Given the description of an element on the screen output the (x, y) to click on. 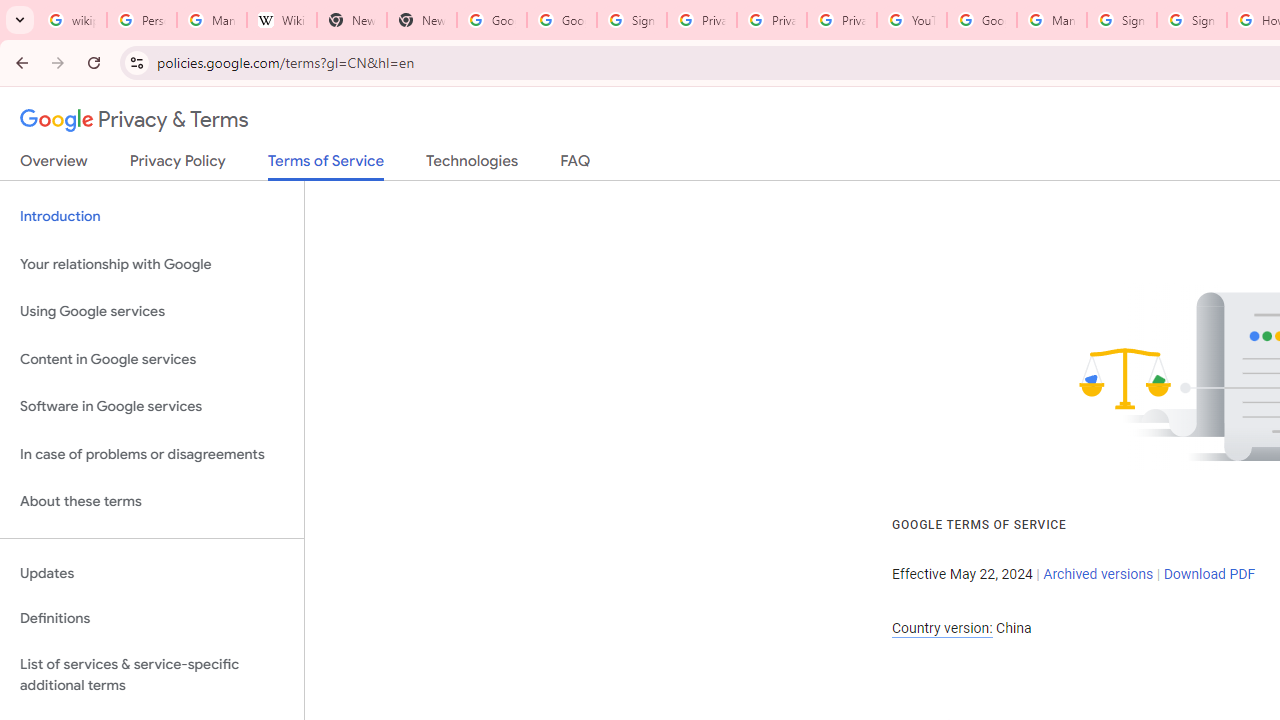
Wikipedia:Edit requests - Wikipedia (282, 20)
Using Google services (152, 312)
FAQ (575, 165)
Archived versions (1098, 574)
Sign in - Google Accounts (1192, 20)
Sign in - Google Accounts (1121, 20)
New Tab (351, 20)
In case of problems or disagreements (152, 453)
Personalization & Google Search results - Google Search Help (141, 20)
Your relationship with Google (152, 263)
About these terms (152, 502)
